Given the description of an element on the screen output the (x, y) to click on. 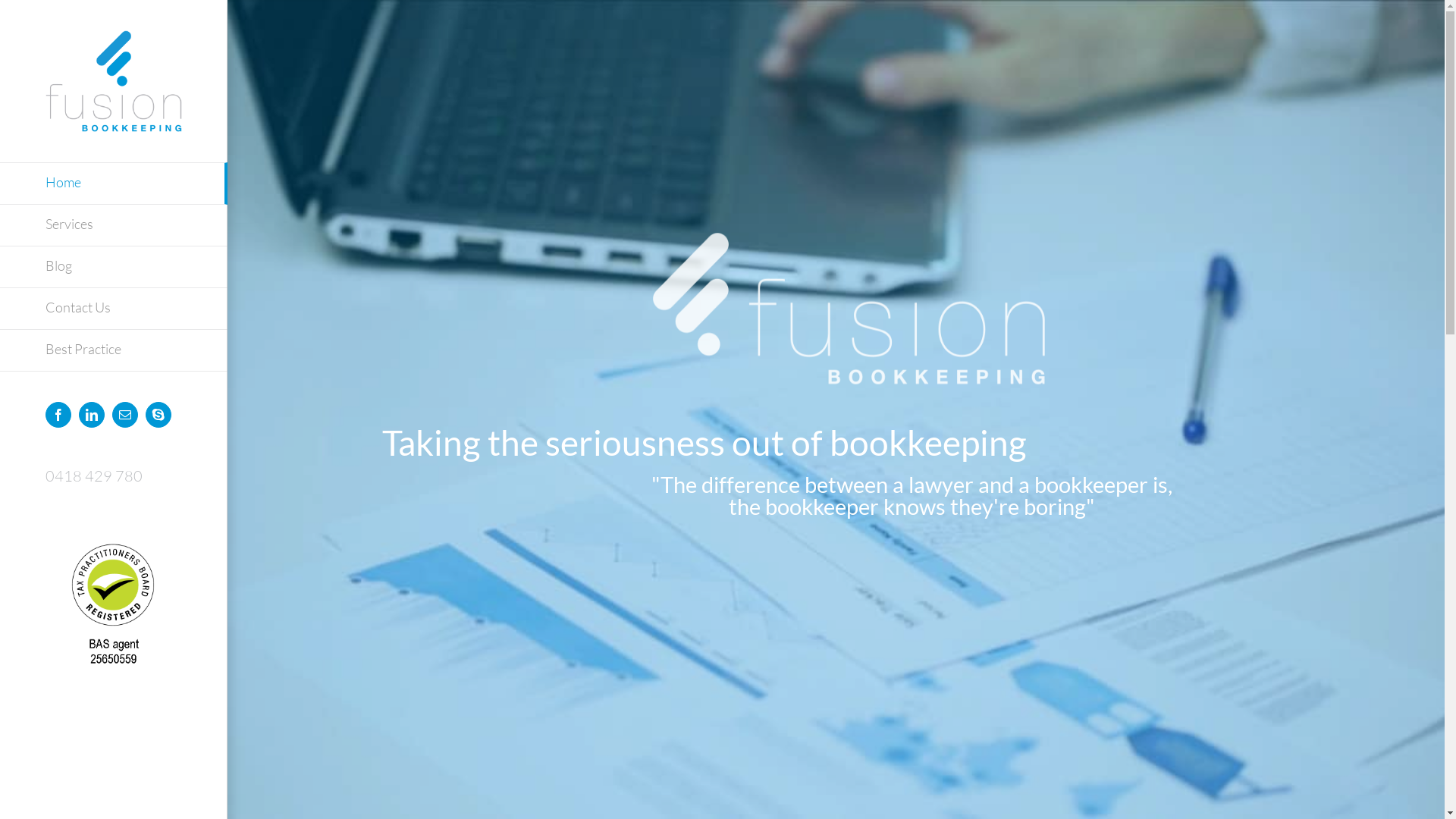
Email Element type: text (125, 414)
Services Element type: text (113, 225)
Contact Us Element type: text (113, 308)
Linkedin Element type: text (91, 414)
Blog Element type: text (113, 267)
Facebook Element type: text (58, 414)
Skype Element type: text (158, 414)
Best Practice Element type: text (113, 350)
Home Element type: text (113, 183)
